Given the description of an element on the screen output the (x, y) to click on. 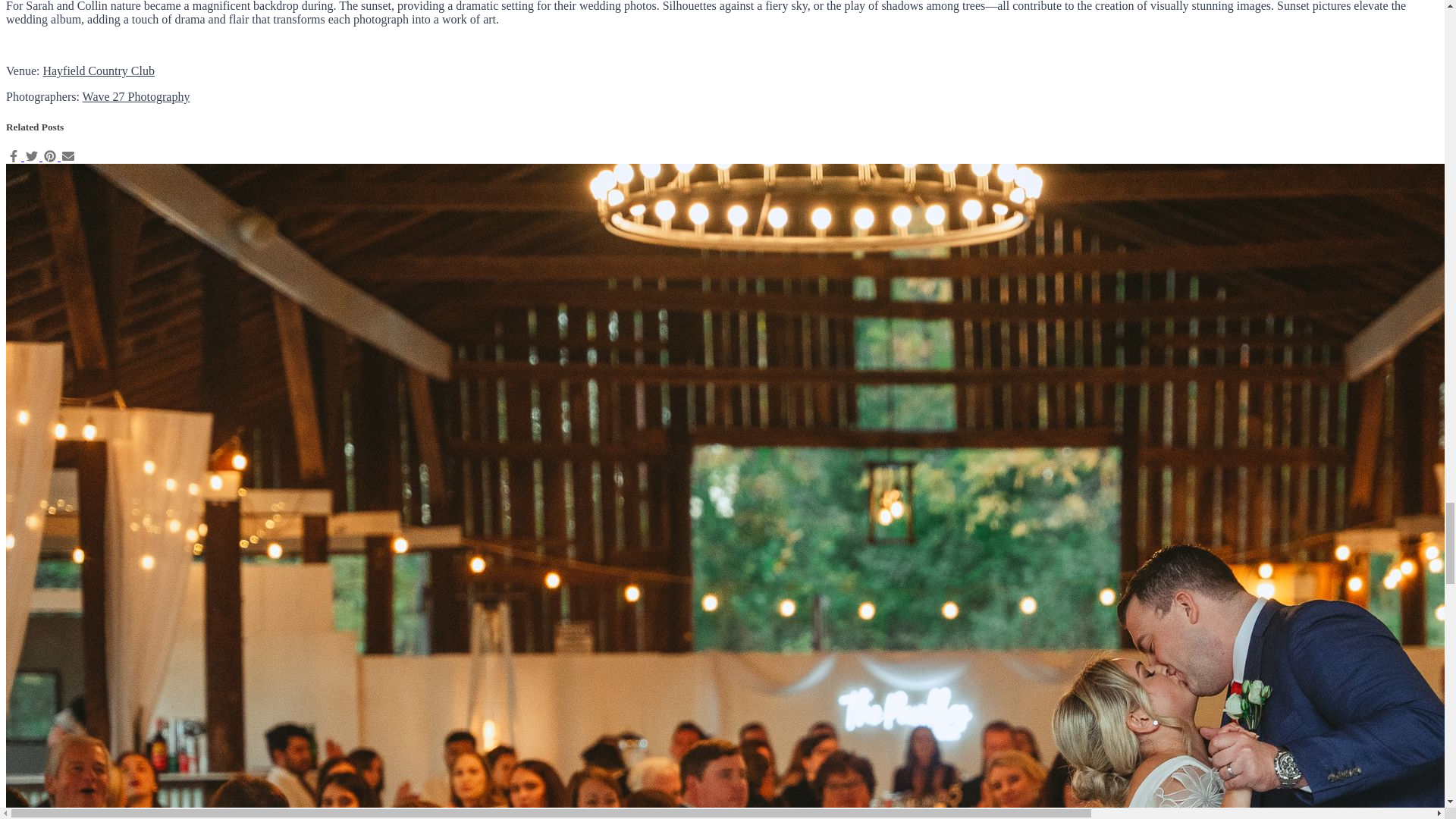
Wave 27 Photography (136, 96)
Hayfield Country Club (98, 70)
